Given the description of an element on the screen output the (x, y) to click on. 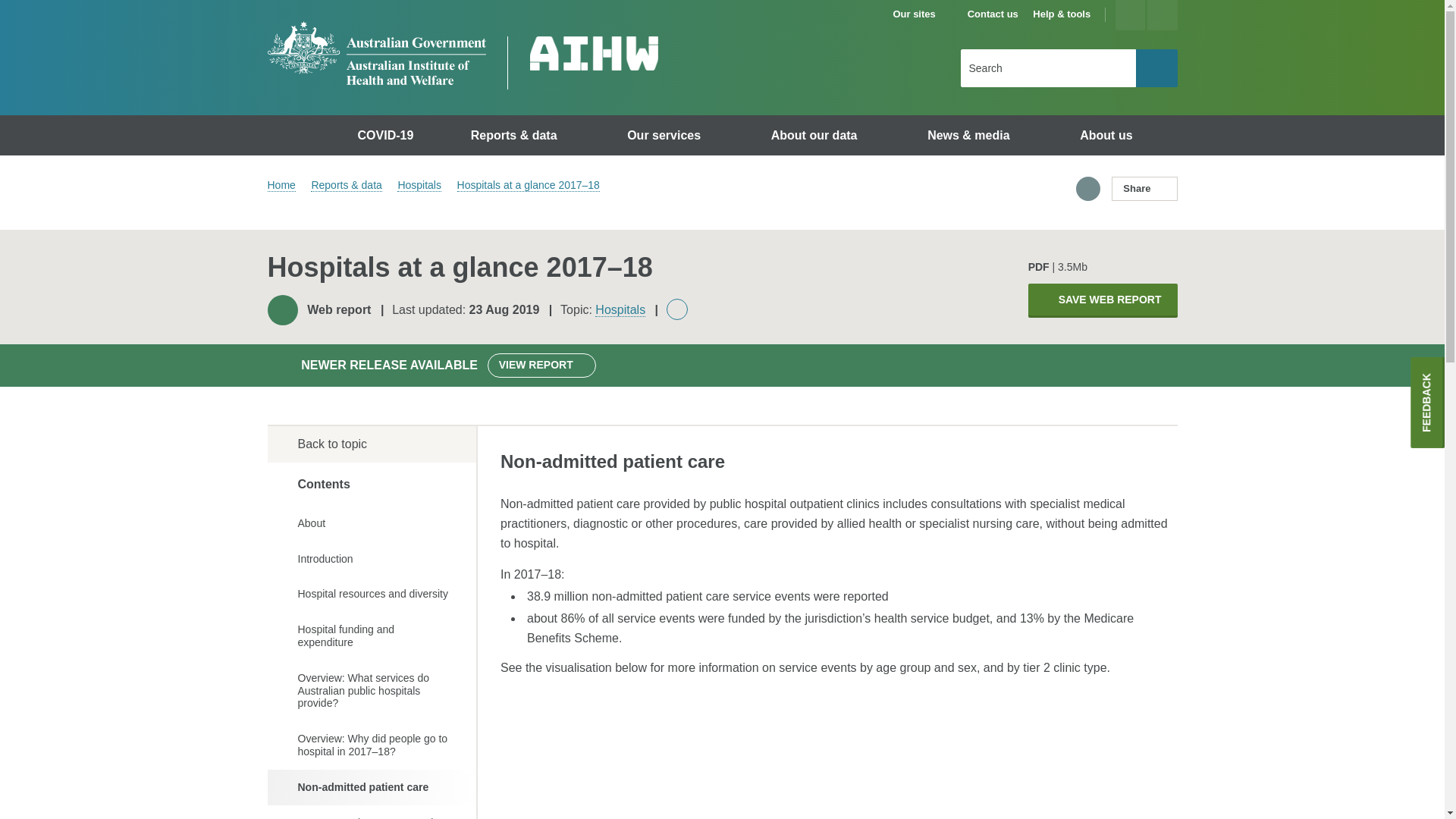
Contact us (992, 14)
Increase text size (1130, 15)
Decrease text size (1162, 15)
Our sites (921, 14)
Australian Institute of Health and Welfare (375, 53)
Search (1156, 67)
COVID-19 (388, 135)
